Given the description of an element on the screen output the (x, y) to click on. 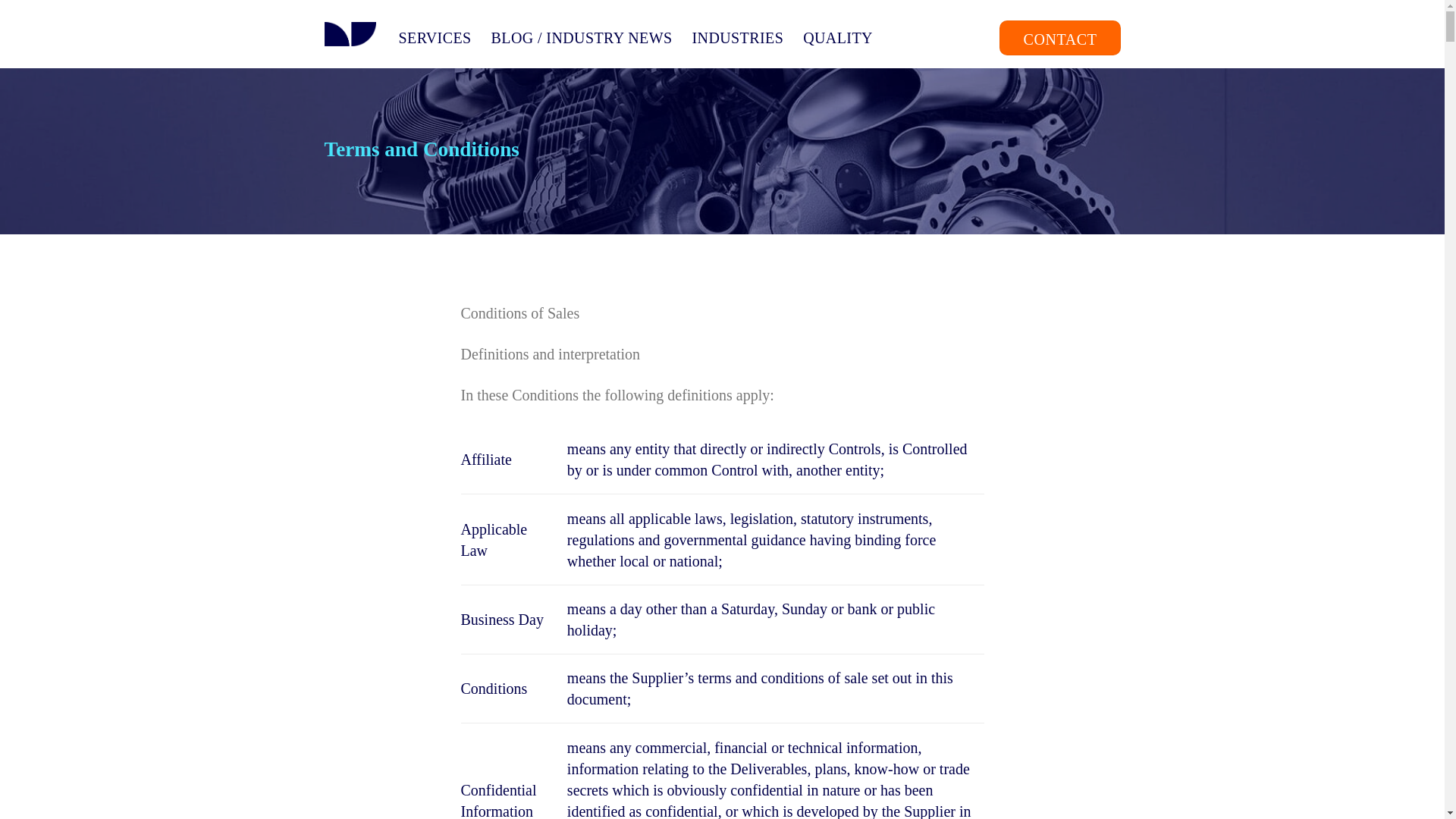
QUALITY (837, 37)
INDUSTRIES (737, 37)
SERVICES (434, 37)
CONTACT (1058, 36)
